Given the description of an element on the screen output the (x, y) to click on. 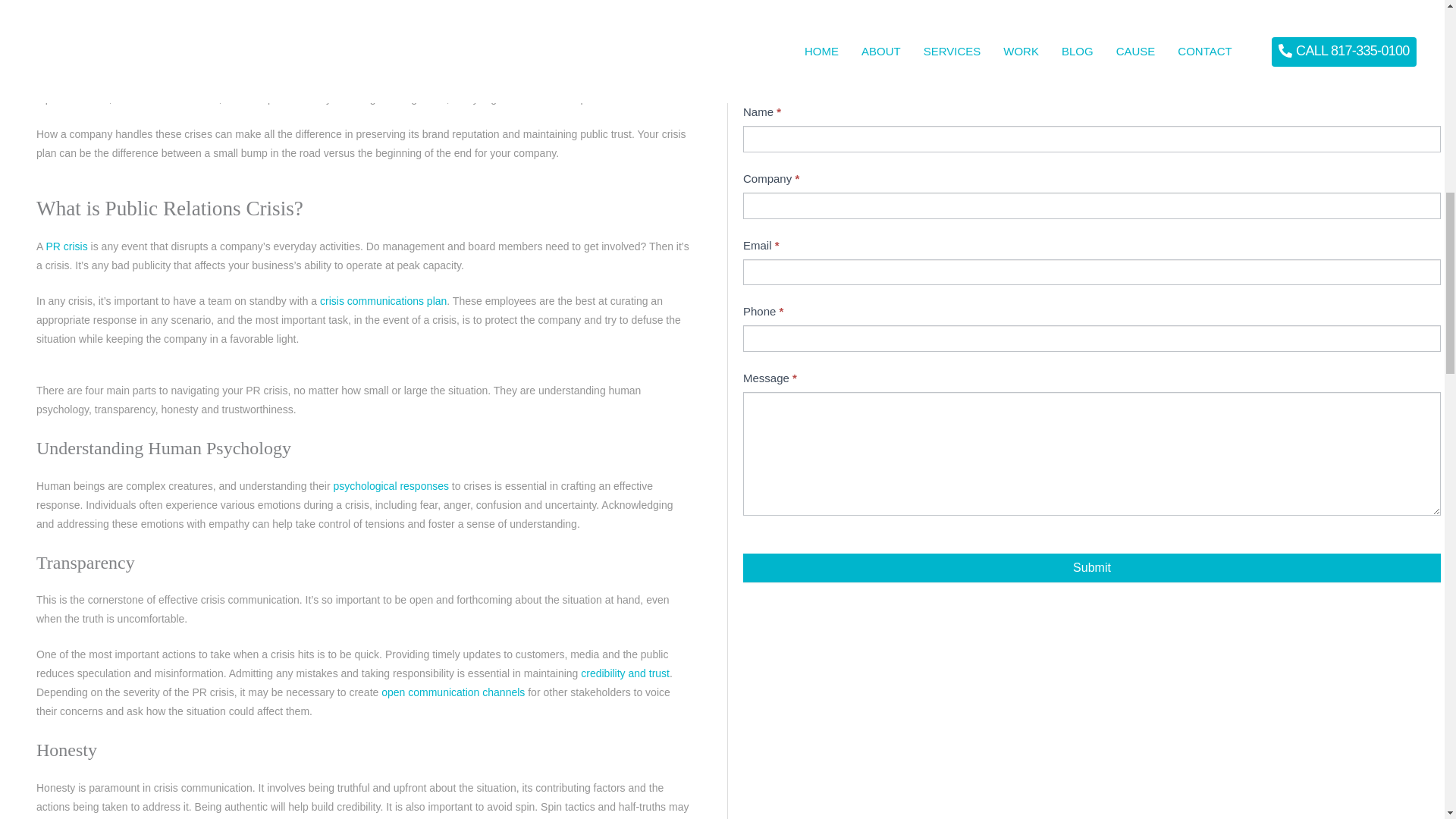
Instagram (76, 56)
Twitter (104, 56)
Submit (1091, 567)
Facebook (49, 56)
